Given the description of an element on the screen output the (x, y) to click on. 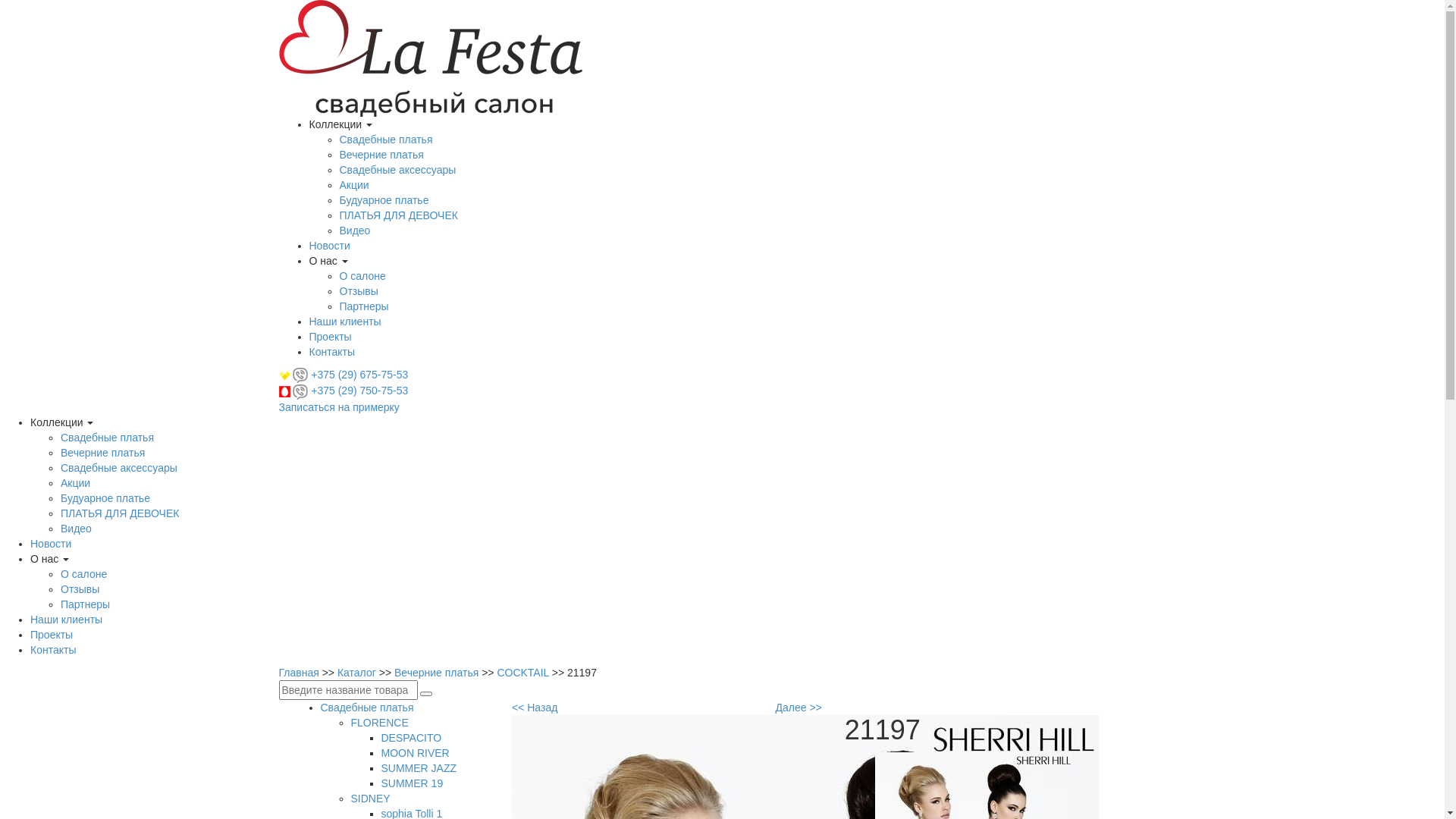
FLORENCE Element type: text (378, 722)
+375 (29) 750-75-53 Element type: text (358, 390)
MOON RIVER Element type: text (414, 752)
+375 (29) 675-75-53 Element type: text (358, 374)
SUMMER 19 Element type: text (411, 783)
DESPACITO Element type: text (410, 737)
SUMMER JAZZ Element type: text (418, 768)
SIDNEY Element type: text (369, 798)
COCKTAIL Element type: text (523, 672)
